Given the description of an element on the screen output the (x, y) to click on. 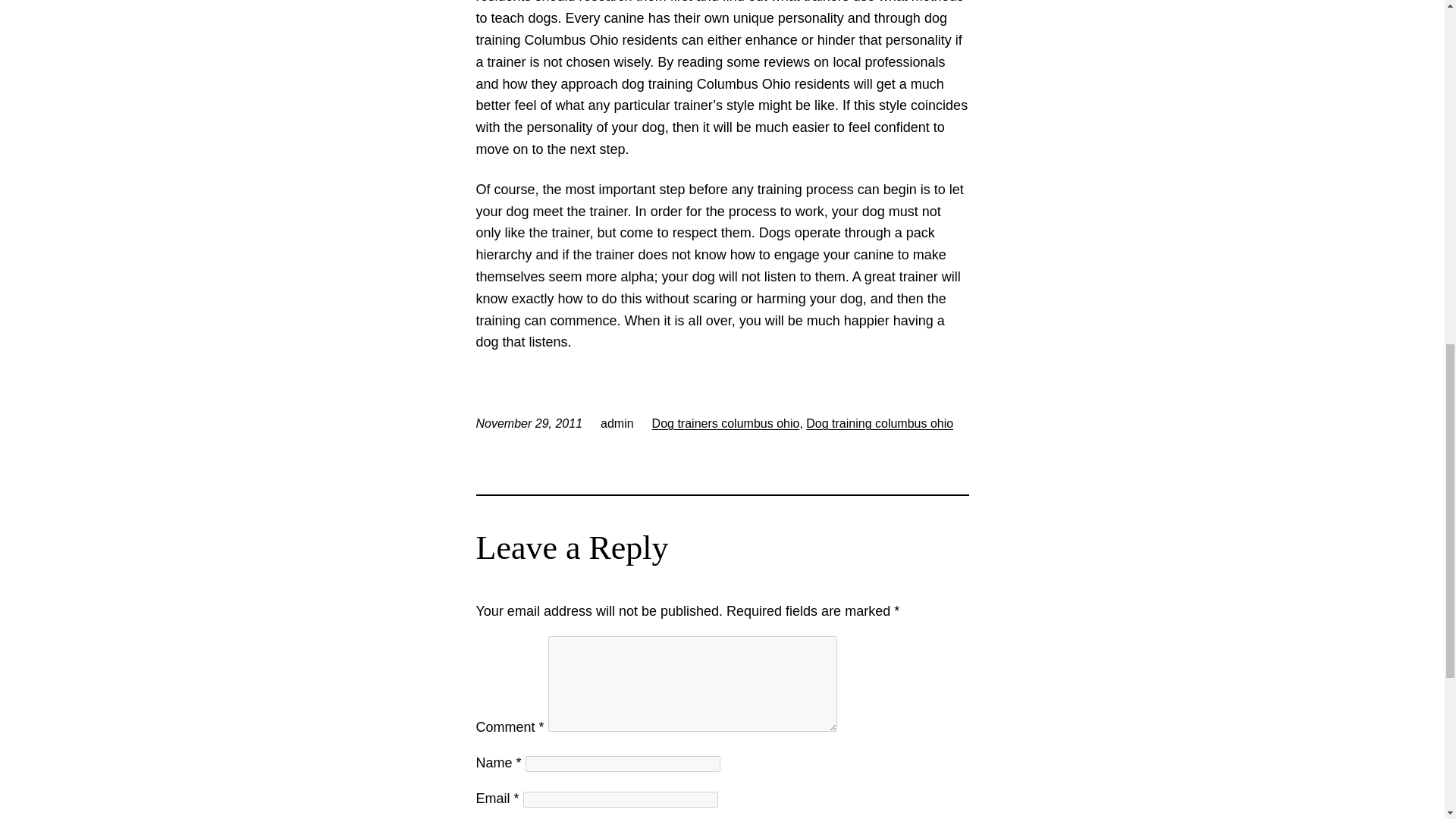
Dog training columbus ohio (879, 422)
Dog trainers columbus ohio (725, 422)
